Given the description of an element on the screen output the (x, y) to click on. 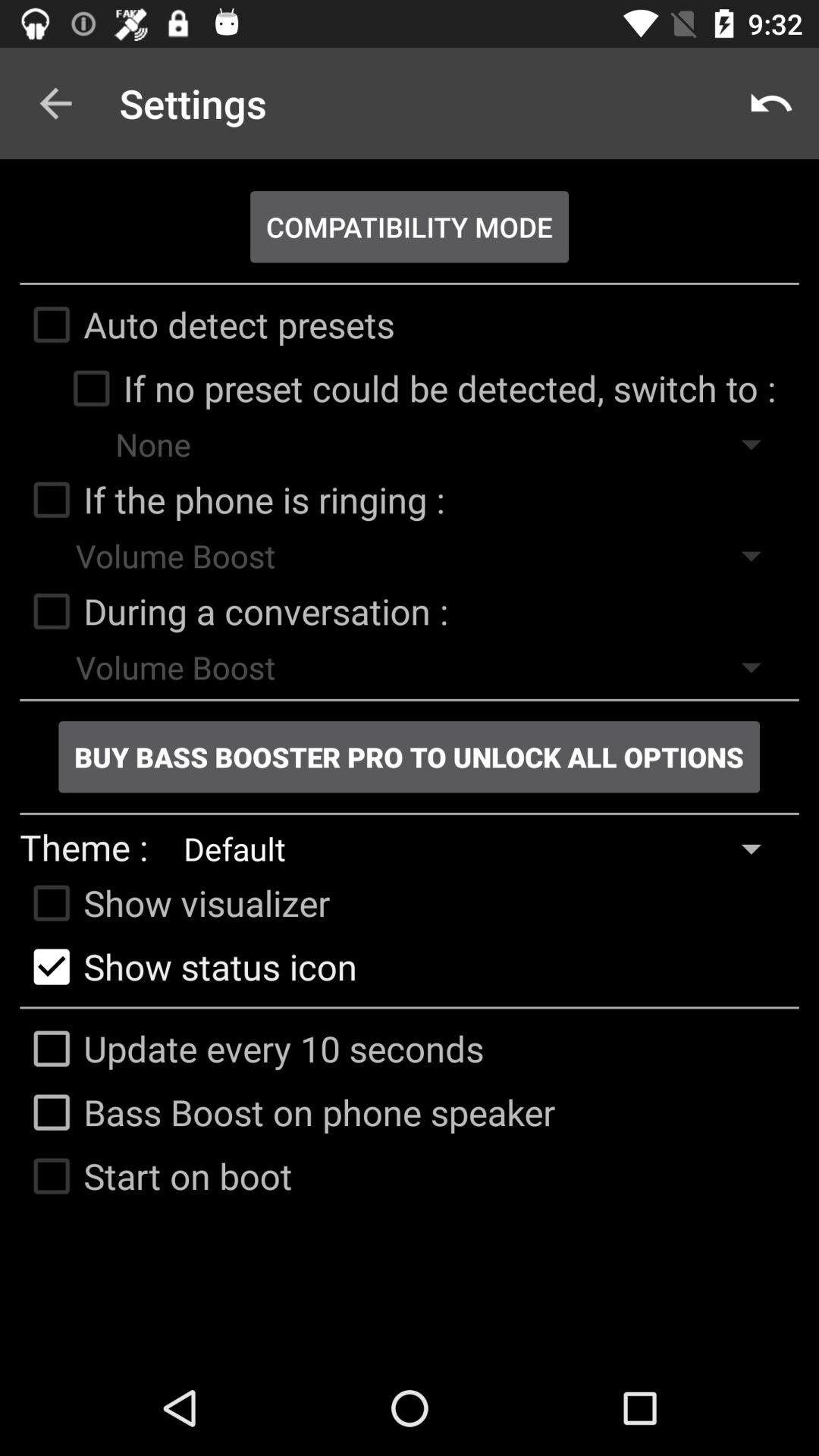
launch the show visualizer item (174, 903)
